Given the description of an element on the screen output the (x, y) to click on. 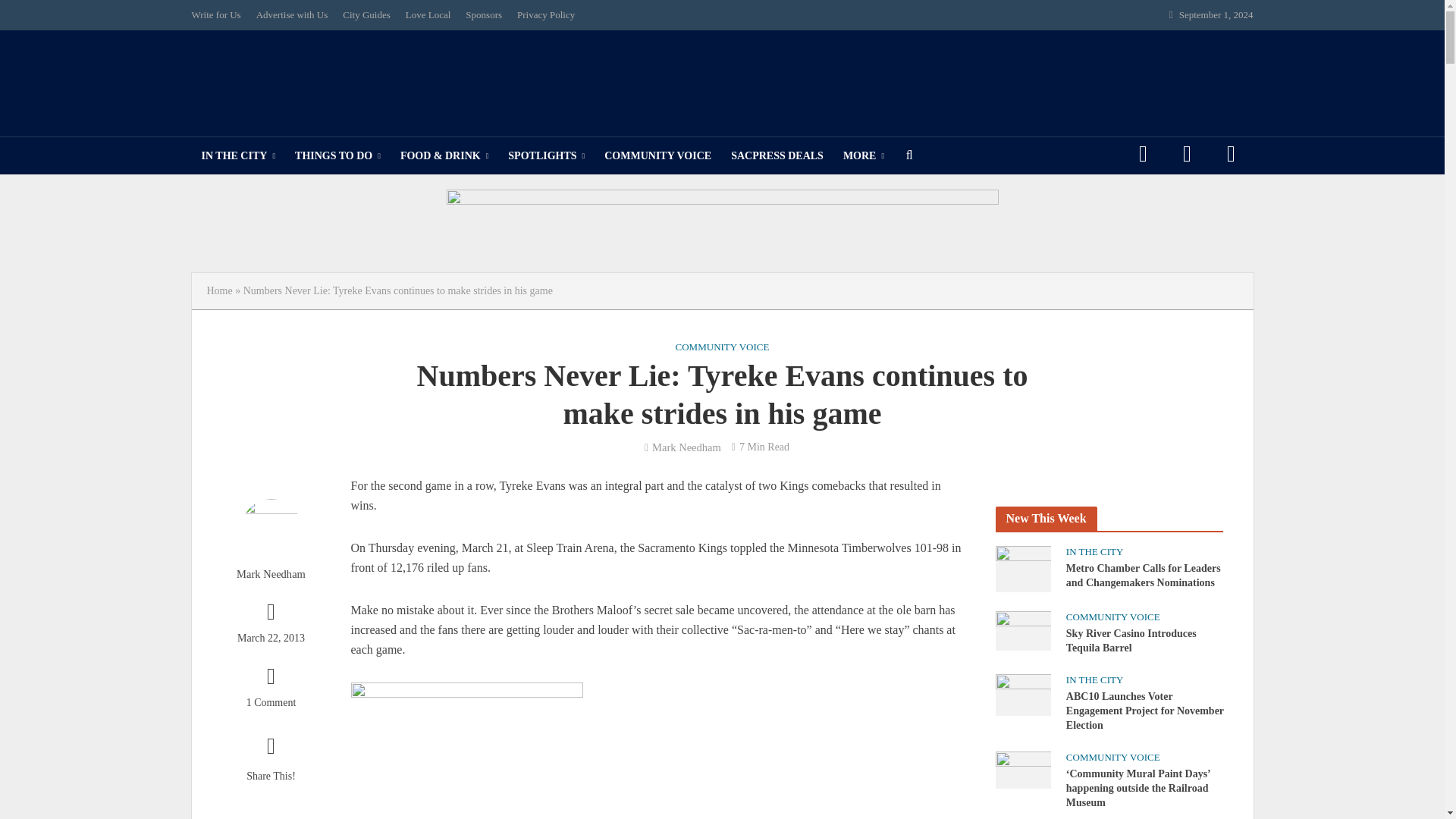
Sky River Casino Introduces Tequila Barrel (1021, 629)
IN THE CITY (237, 156)
Write for Us (218, 15)
COMMUNITY VOICE (657, 156)
Advertise with Us (292, 15)
THINGS TO DO (337, 156)
SPOTLIGHTS (545, 156)
MORE (862, 156)
Love Local (427, 15)
